Given the description of an element on the screen output the (x, y) to click on. 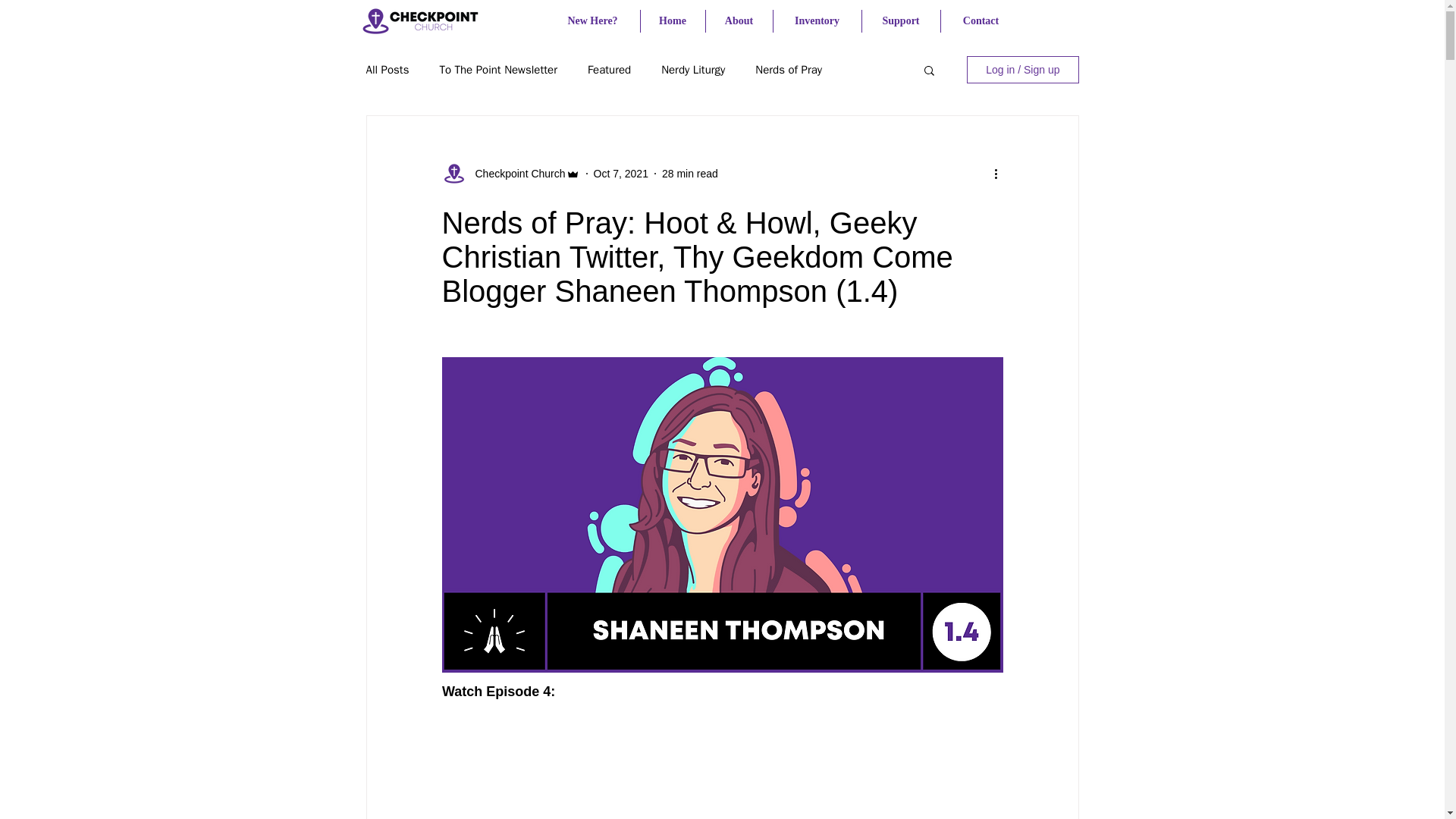
To The Point Newsletter (497, 69)
Home (672, 20)
Oct 7, 2021 (620, 173)
28 min read (689, 173)
Nerds of Pray (788, 69)
Nerdy Liturgy (693, 69)
All Posts (387, 69)
Checkpoint Church (514, 172)
Featured (609, 69)
Contact (980, 20)
